Given the description of an element on the screen output the (x, y) to click on. 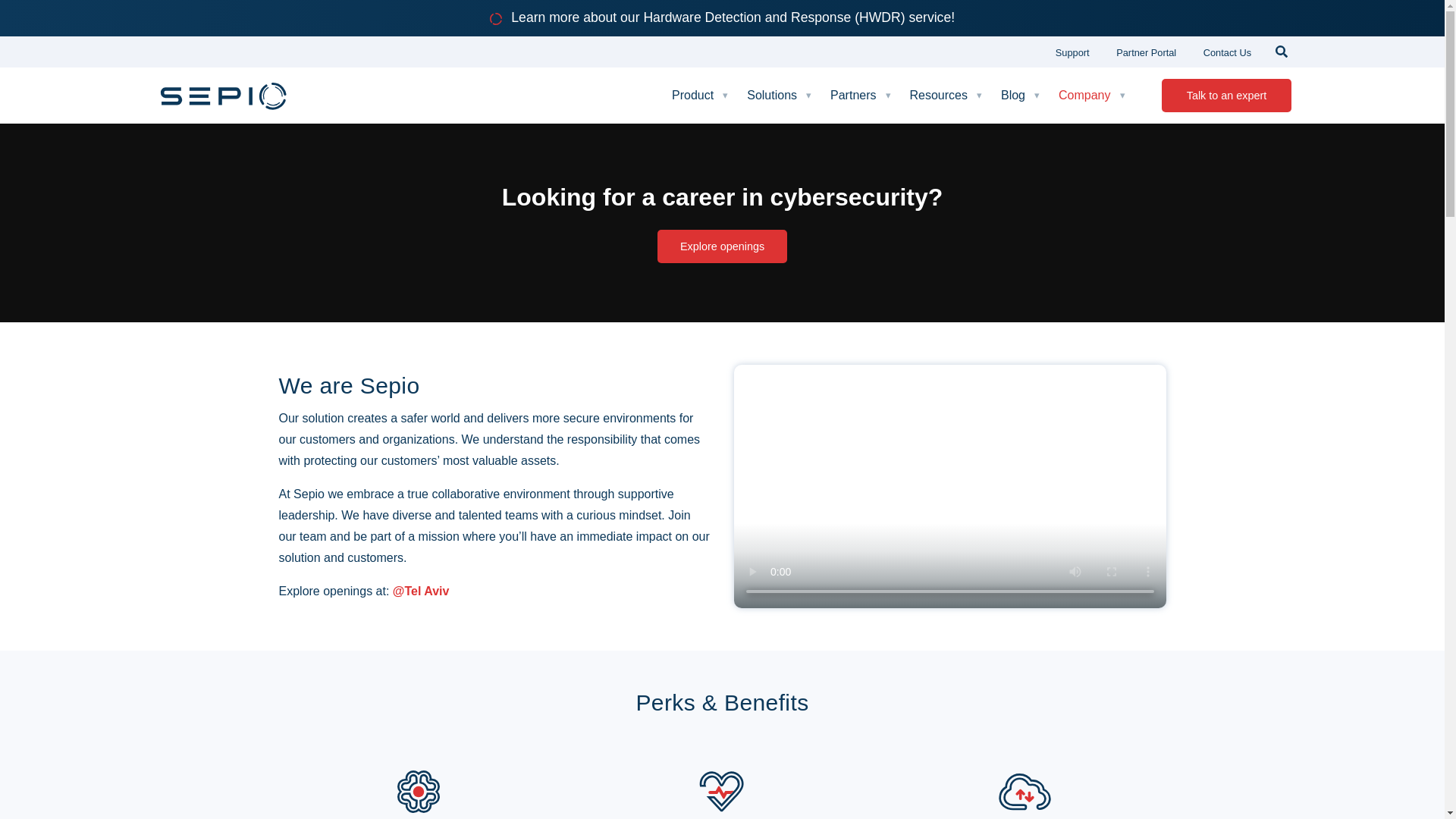
Solutions (780, 95)
Partner Portal (1145, 52)
Support (1072, 52)
Explore openings (421, 590)
Product (701, 95)
Partners (861, 95)
Sepio news bar icon (495, 19)
Resources (947, 95)
Contact Us (1227, 52)
Explore openings (722, 246)
